Given the description of an element on the screen output the (x, y) to click on. 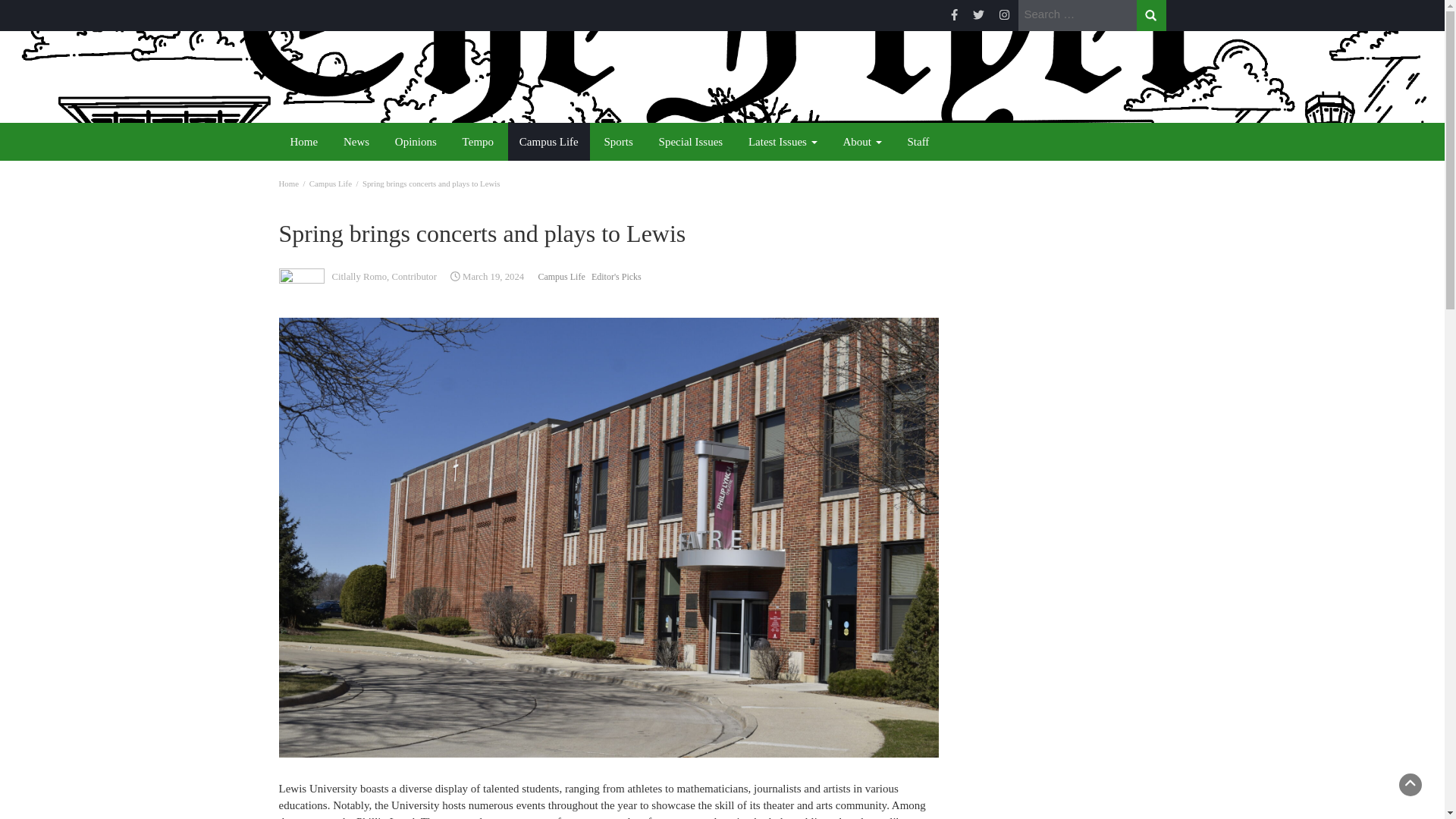
Latest Issues (782, 141)
Staff (917, 141)
Sports (617, 141)
Special Issues (691, 141)
Opinions (416, 141)
Campus Life (330, 183)
Staff (917, 141)
Editor's Picks (616, 276)
Tempo (478, 141)
Home (288, 183)
Search (1150, 15)
Sports (617, 141)
About (861, 141)
News (355, 141)
Search (1150, 15)
